Given the description of an element on the screen output the (x, y) to click on. 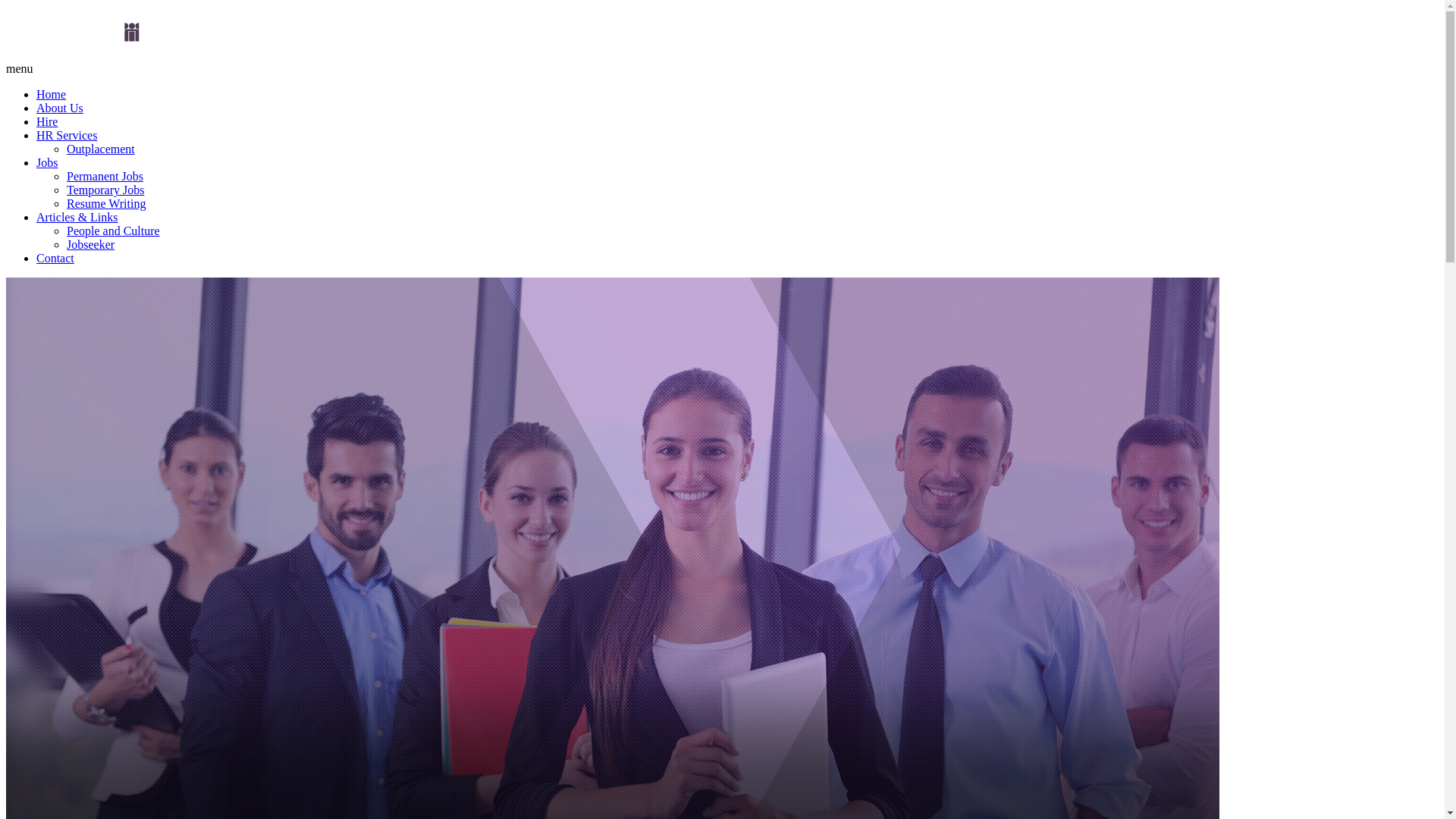
Jobs Element type: text (46, 162)
Permanent Jobs Element type: text (104, 175)
Resume Writing Element type: text (105, 203)
Hire Element type: text (46, 121)
HR Services Element type: text (66, 134)
Jobseeker Element type: text (90, 244)
Temporary Jobs Element type: text (105, 189)
People and Culture Element type: text (113, 230)
Home Element type: text (50, 93)
About Us Element type: text (59, 107)
Articles & Links Element type: text (77, 216)
Outplacement Element type: text (100, 148)
Contact Element type: text (55, 257)
